Given the description of an element on the screen output the (x, y) to click on. 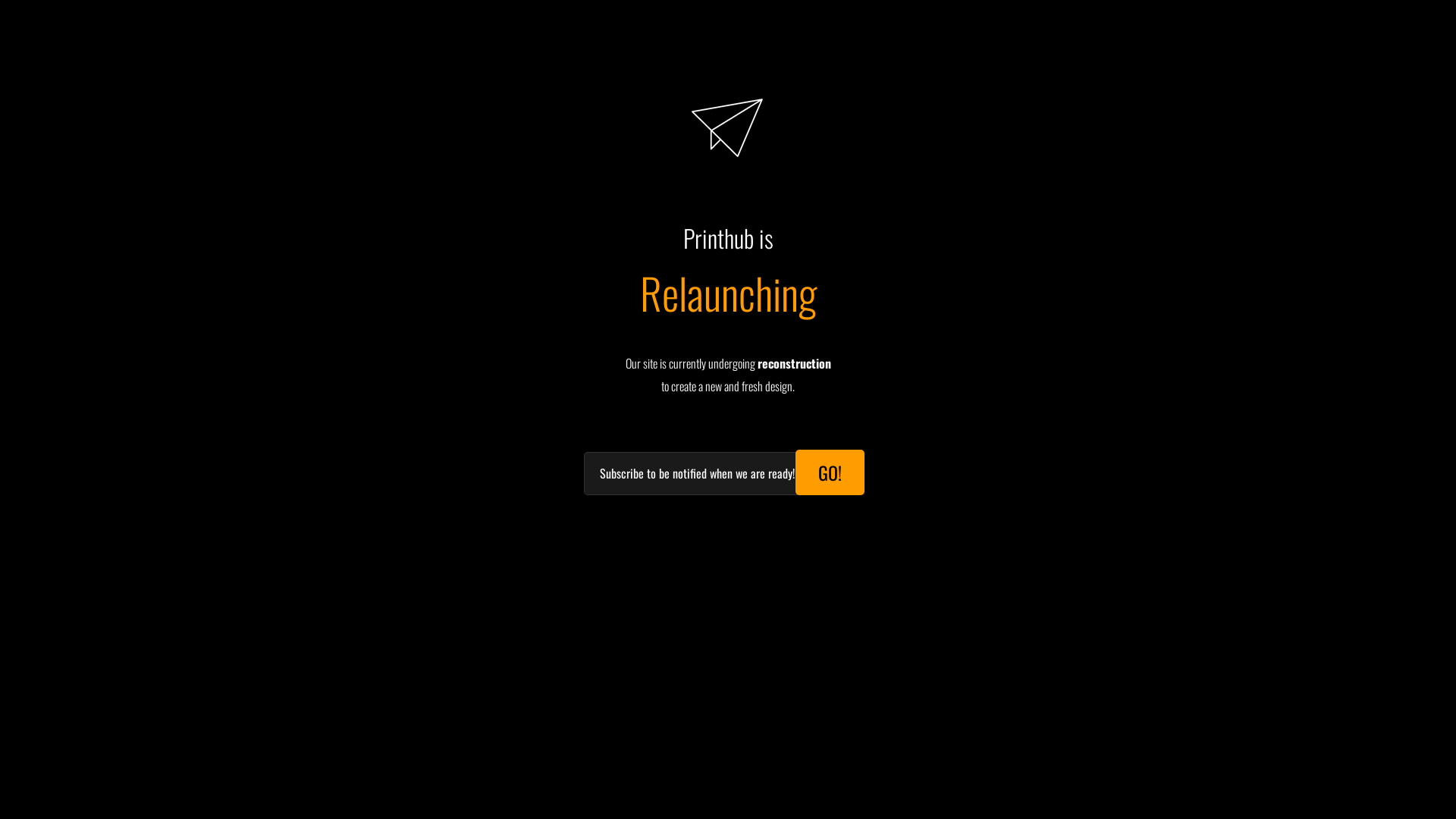
GO! Element type: text (829, 472)
